Given the description of an element on the screen output the (x, y) to click on. 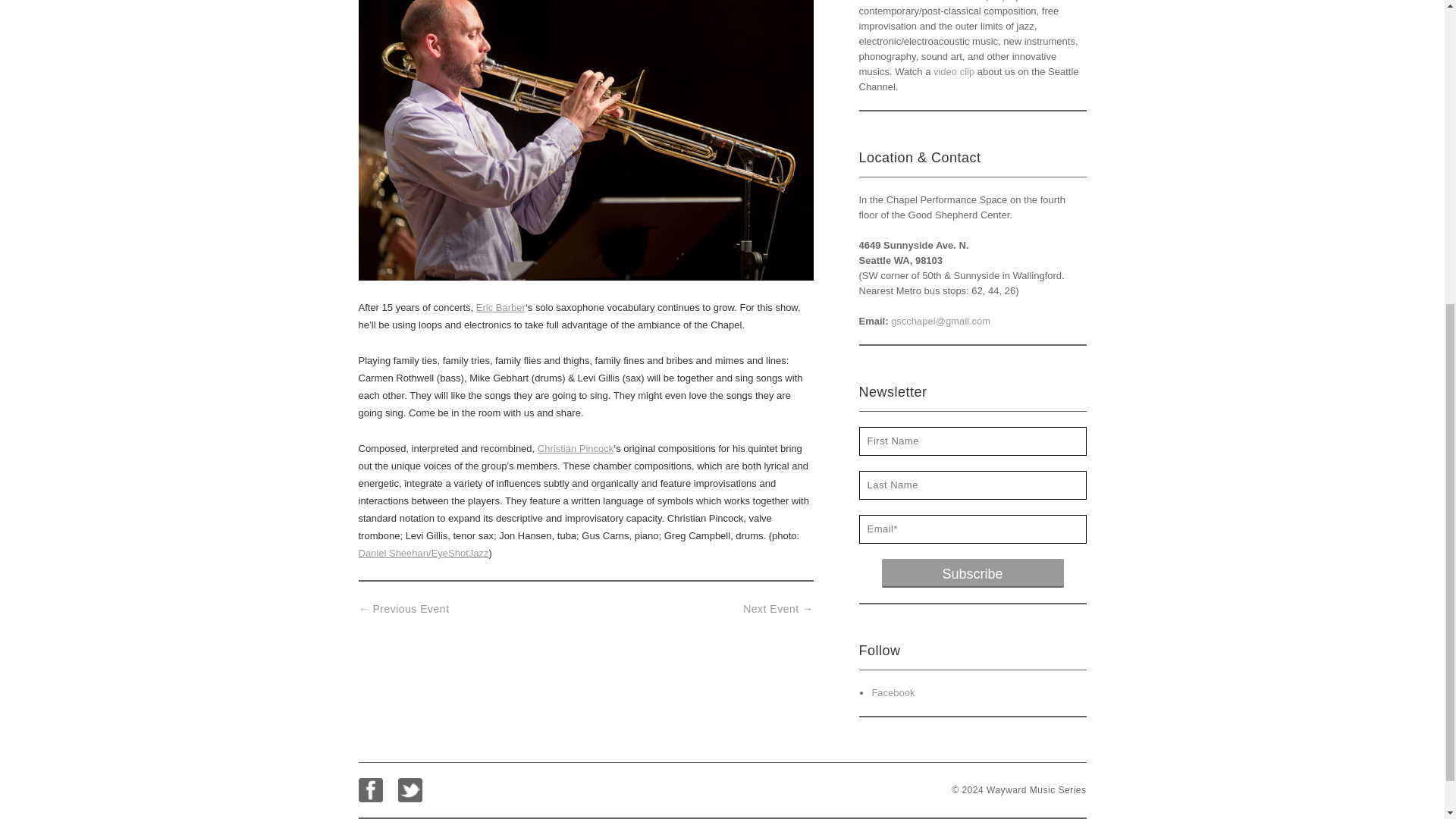
Duwamish people (975, 0)
Twitter (409, 790)
Christian Pincock (574, 448)
Twitter (409, 790)
Facebook (369, 790)
video clip (953, 71)
Subscribe (971, 573)
Facebook (369, 790)
Facebook (892, 692)
Subscribe (971, 573)
Eric Barber (500, 307)
